Given the description of an element on the screen output the (x, y) to click on. 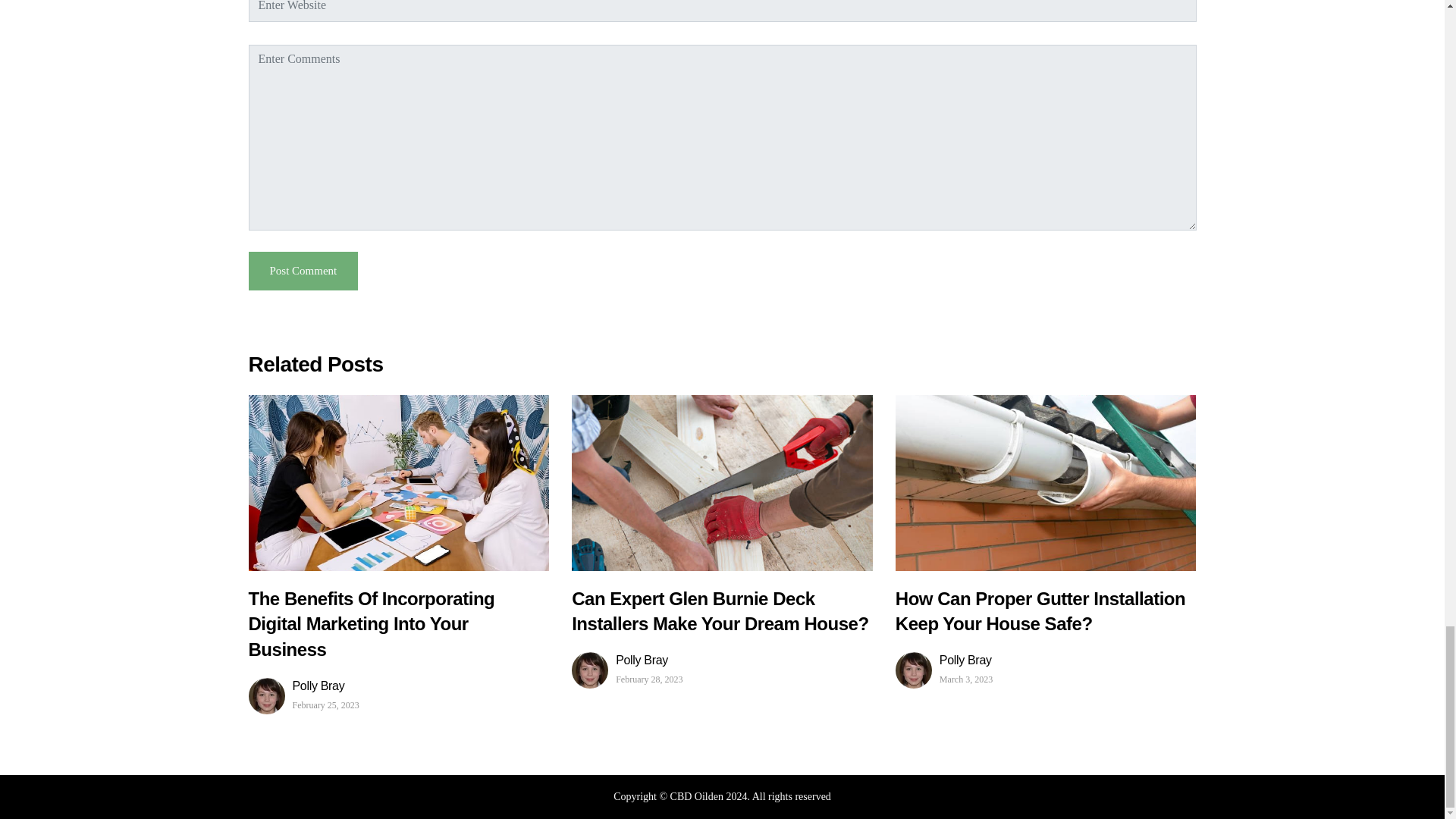
Polly Bray (648, 660)
Post Comment (303, 270)
Polly Bray (325, 685)
Post Comment (303, 270)
Polly Bray (965, 660)
How Can Proper Gutter Installation Keep Your House Safe? (1040, 613)
